Given the description of an element on the screen output the (x, y) to click on. 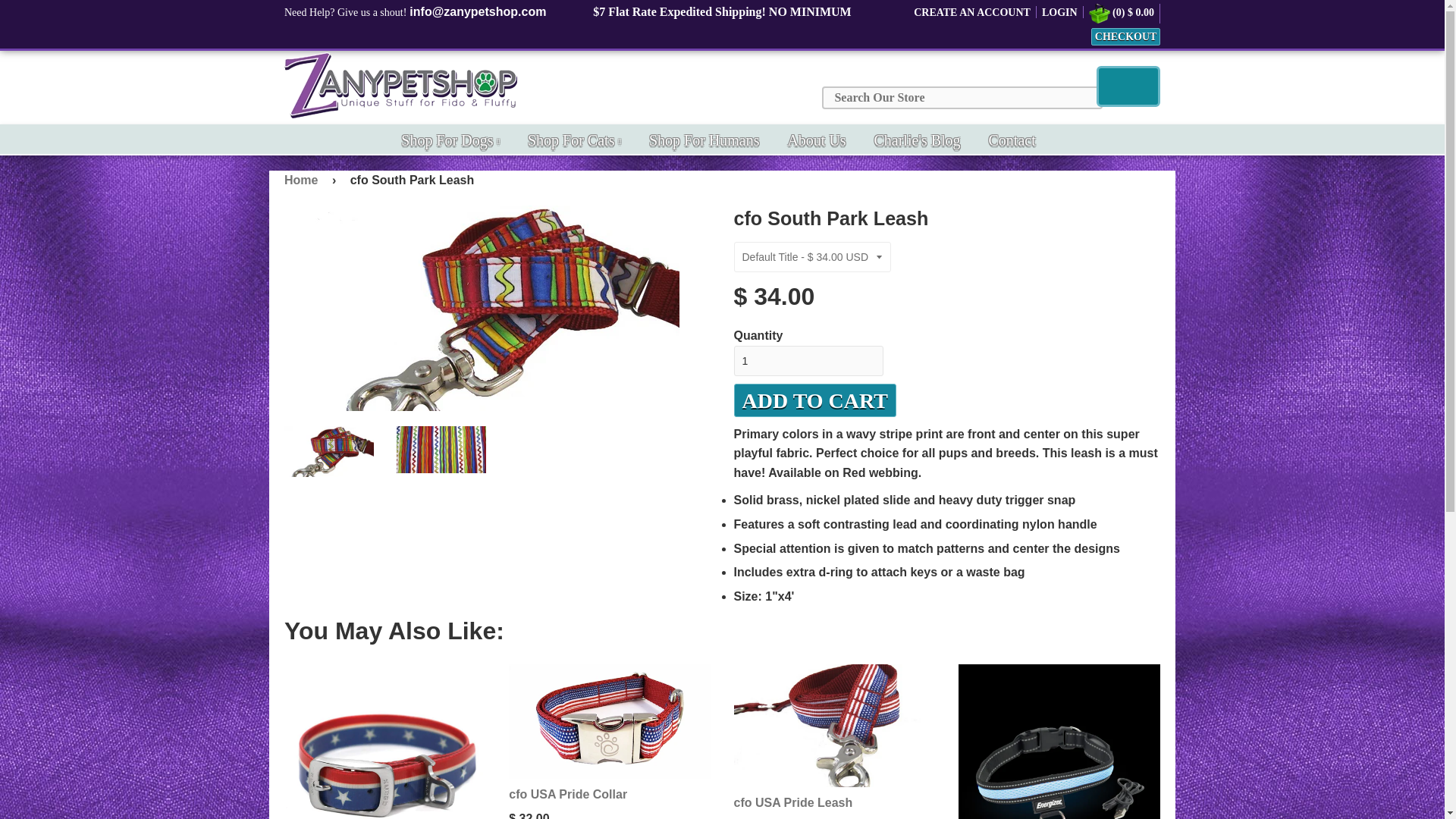
1 (808, 360)
CREATE AN ACCOUNT (972, 12)
Kurgo Muck Dog Collar - Flag Pattern (384, 741)
cfo South Park Leash (497, 308)
cfo South Park Leash (441, 449)
LOGIN (1059, 12)
Back to the frontpage (303, 180)
cfo South Park Leash (328, 450)
submit (1128, 86)
CHECKOUT (1125, 36)
